Given the description of an element on the screen output the (x, y) to click on. 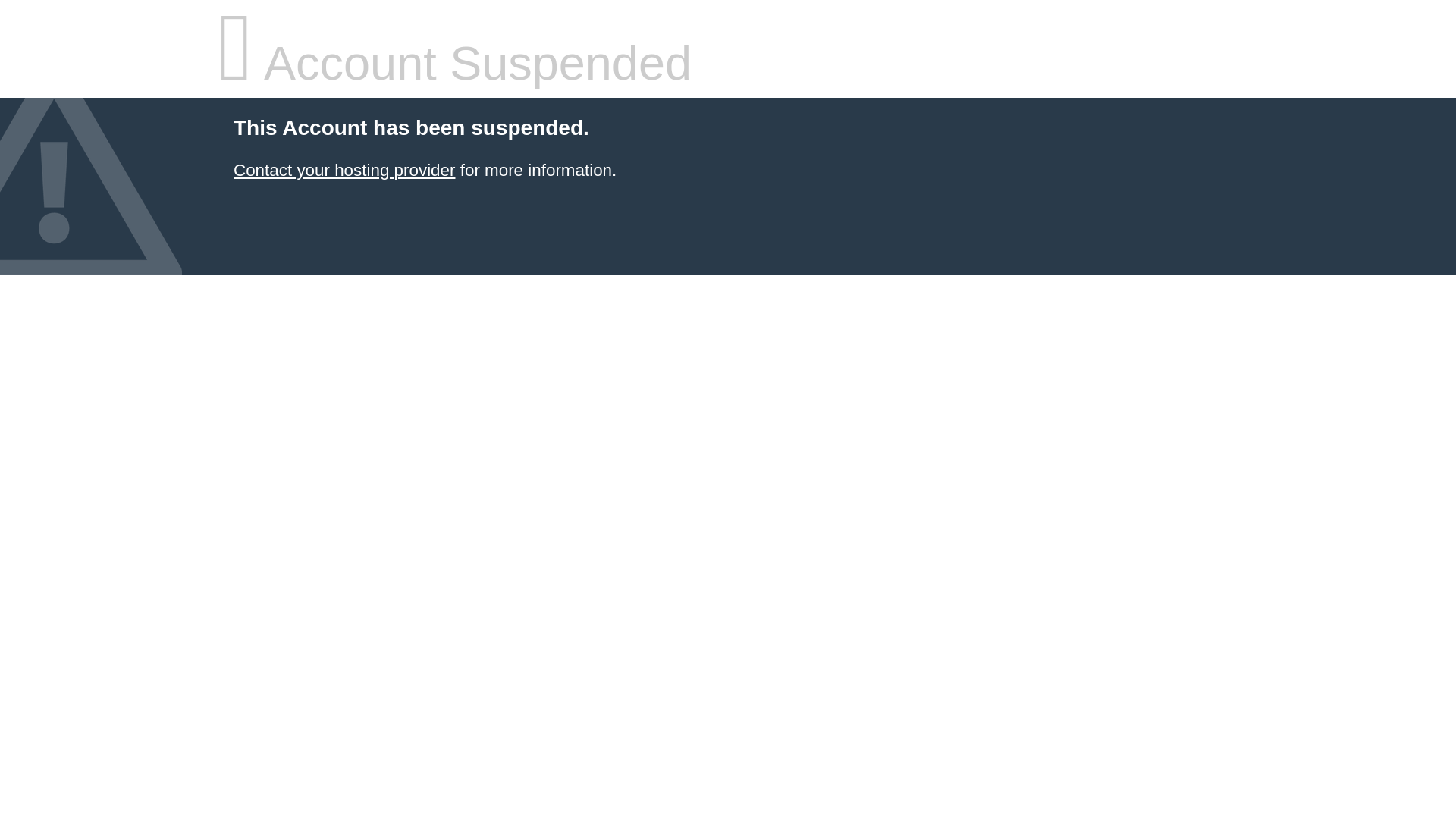
Contact your hosting provider (343, 169)
